Given the description of an element on the screen output the (x, y) to click on. 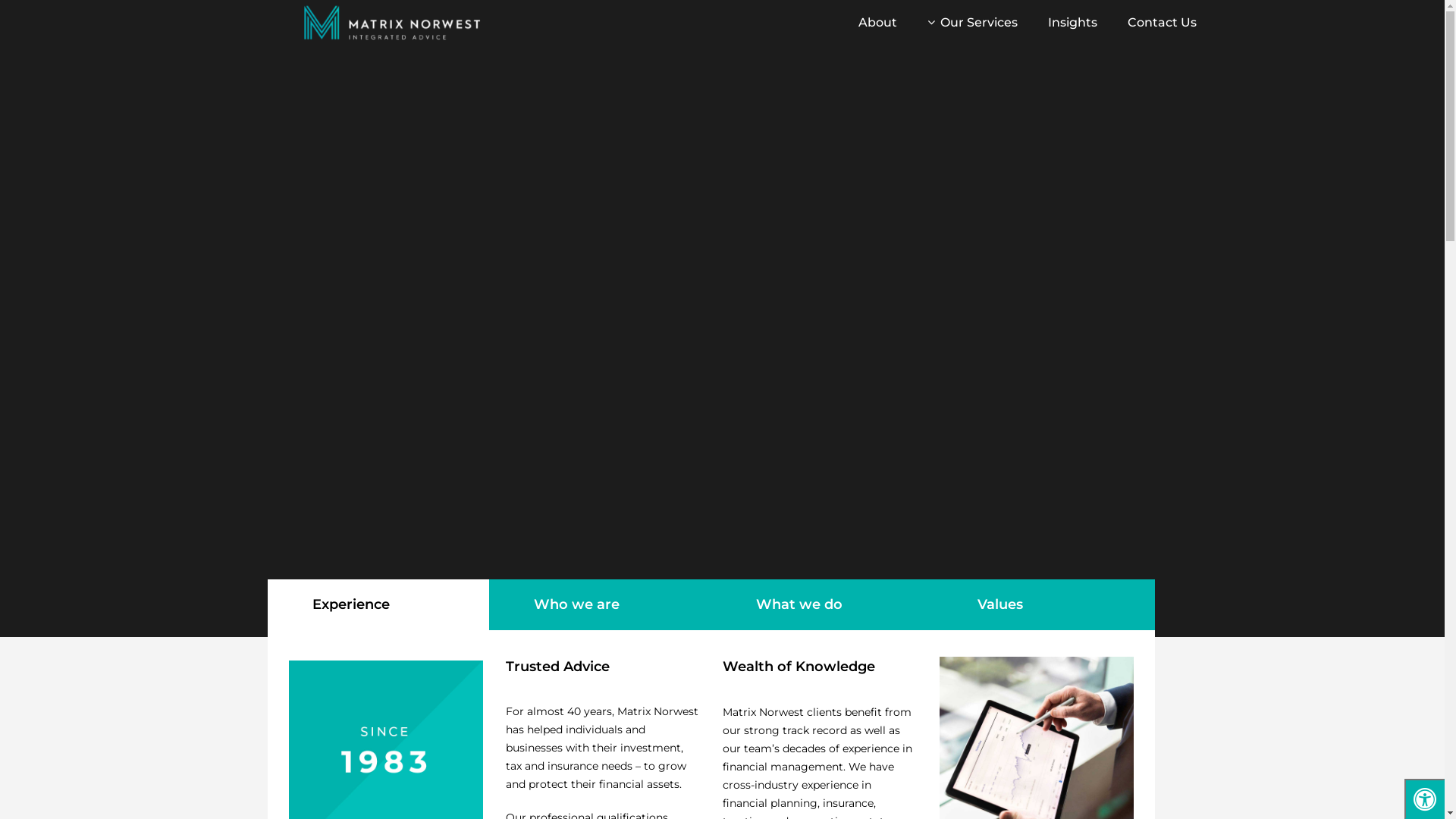
Who we are Element type: text (600, 604)
Our Services Element type: text (971, 22)
Insights Element type: text (1072, 22)
Experience Element type: text (377, 604)
Contact Us Element type: text (1161, 22)
Values Element type: text (1043, 604)
What we do Element type: text (822, 604)
About Element type: text (877, 22)
